Given the description of an element on the screen output the (x, y) to click on. 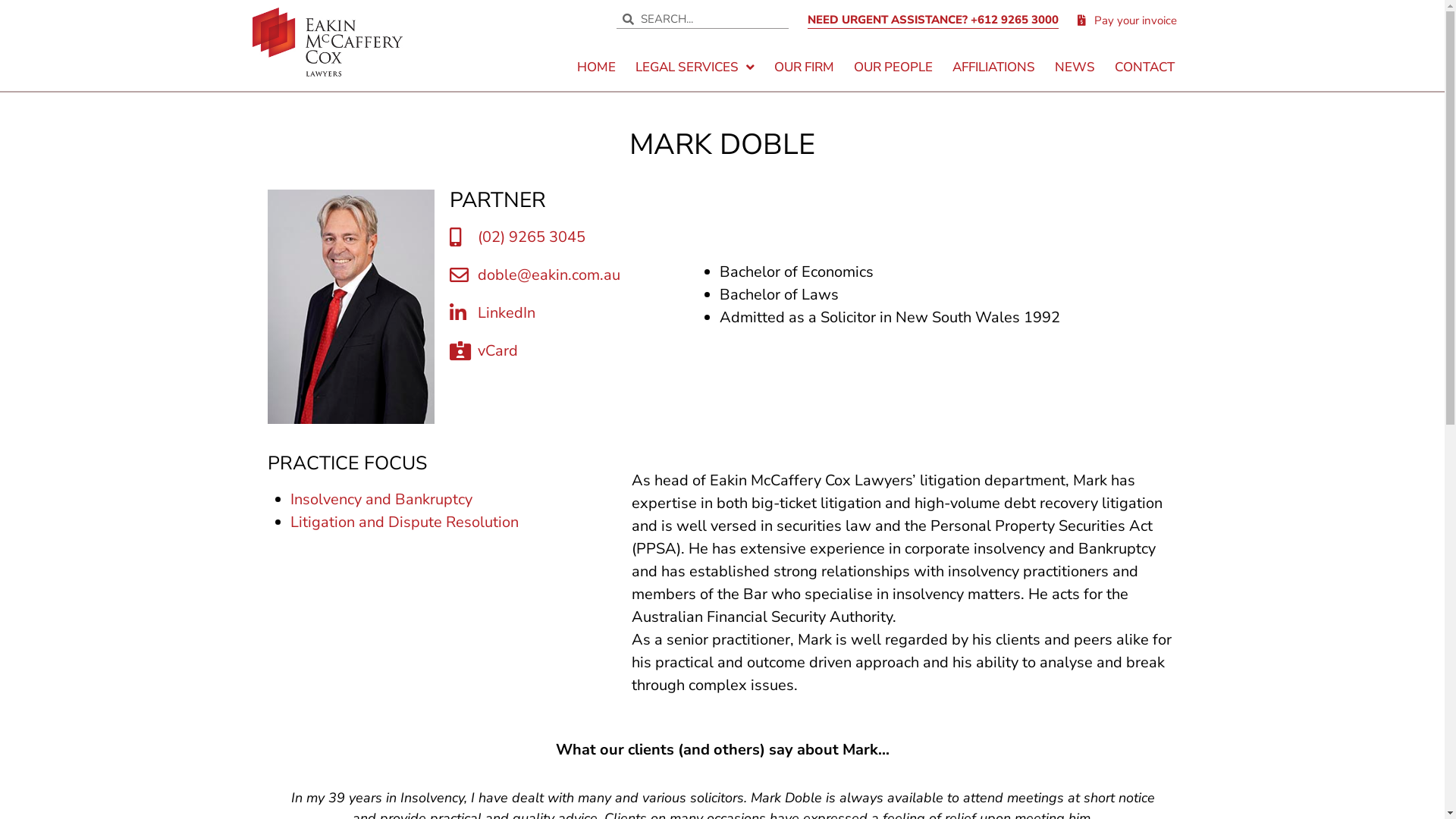
HOME Element type: text (596, 67)
AFFILIATIONS Element type: text (993, 67)
vCard Element type: text (576, 350)
LEGAL SERVICES Element type: text (694, 67)
LinkedIn Element type: text (576, 312)
CONTACT Element type: text (1144, 67)
OUR FIRM Element type: text (804, 67)
Insolvency and Bankruptcy Element type: text (380, 499)
NEWS Element type: text (1074, 67)
Litigation and Dispute Resolution Element type: text (403, 521)
NEED URGENT ASSISTANCE? +612 9265 3000 Element type: text (932, 19)
(02) 9265 3045 Element type: text (576, 236)
doble@eakin.com.au Element type: text (576, 274)
Pay your invoice Element type: text (1127, 20)
OUR PEOPLE Element type: text (893, 67)
